Given the description of an element on the screen output the (x, y) to click on. 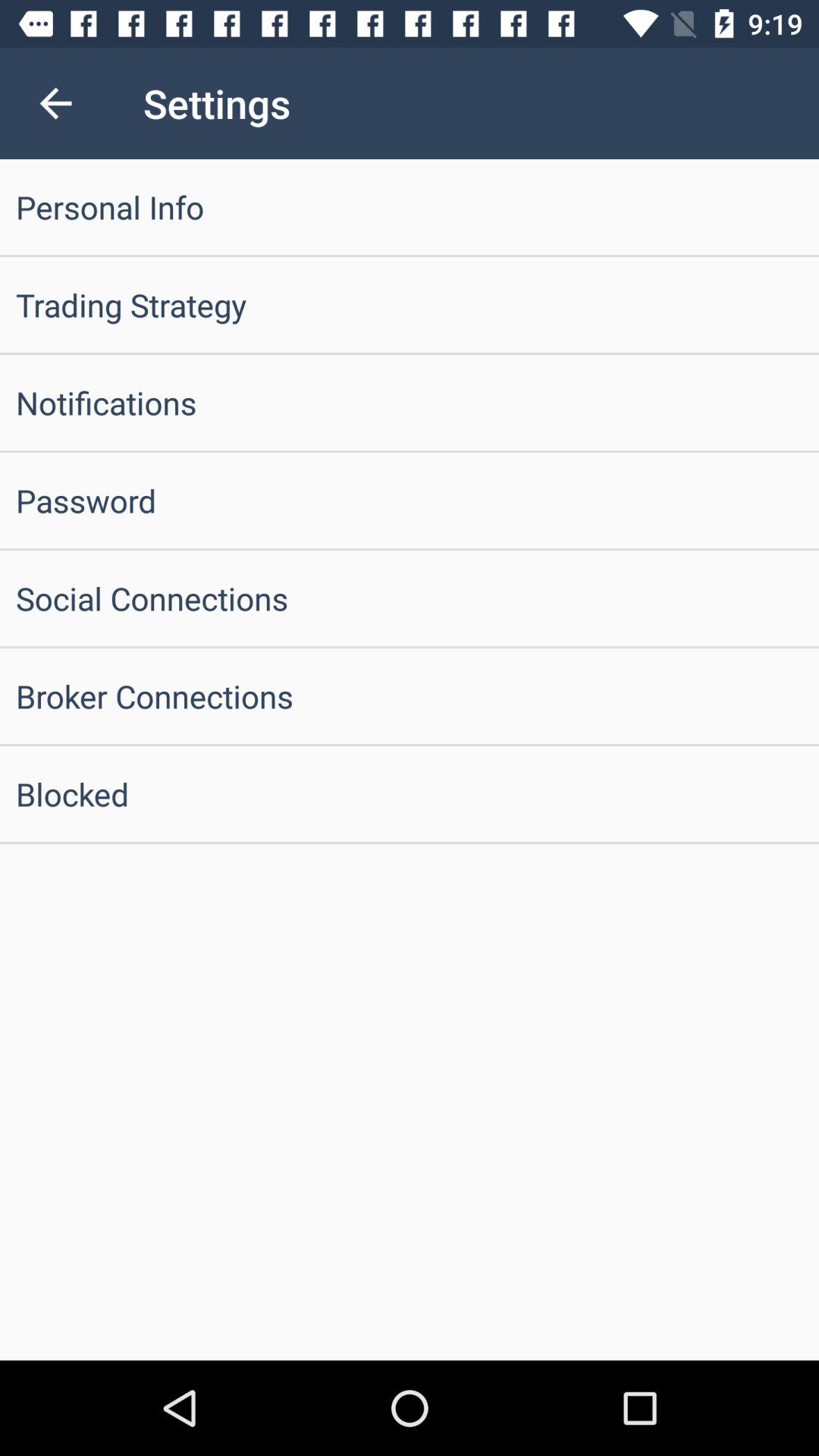
scroll until social connections (409, 598)
